Given the description of an element on the screen output the (x, y) to click on. 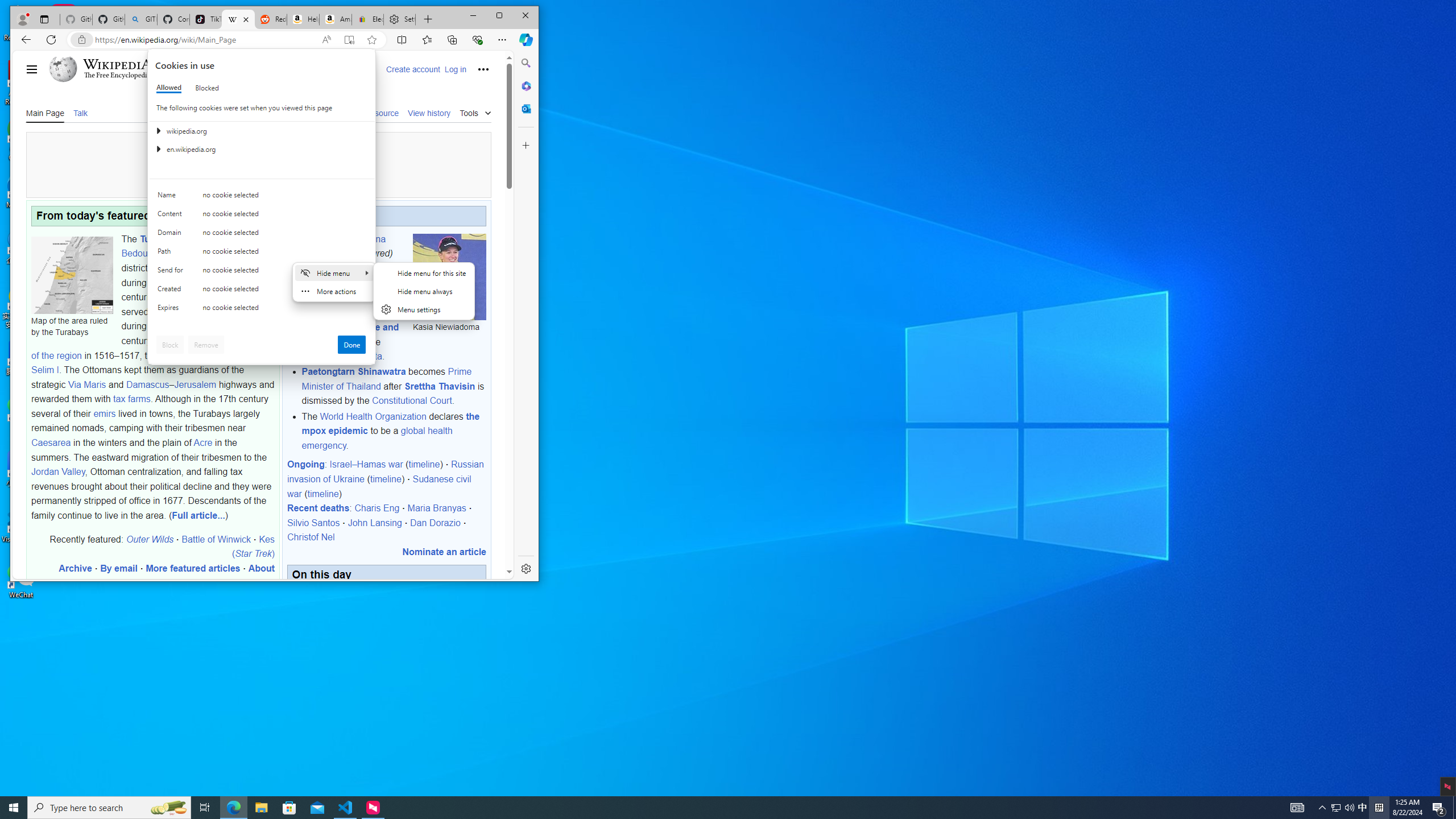
Search highlights icon opens search home window (167, 807)
Allowed (169, 87)
Name (172, 197)
Start (13, 807)
Class: c0153 c0157 (261, 309)
Notification Chevron (1322, 807)
Domain (172, 235)
Send for (172, 272)
Hide menu for this site (424, 272)
no cookie selected (284, 310)
Mini menu on text selection (333, 281)
Microsoft Edge - 1 running window (233, 807)
Content (172, 216)
Blocked (206, 87)
